Given the description of an element on the screen output the (x, y) to click on. 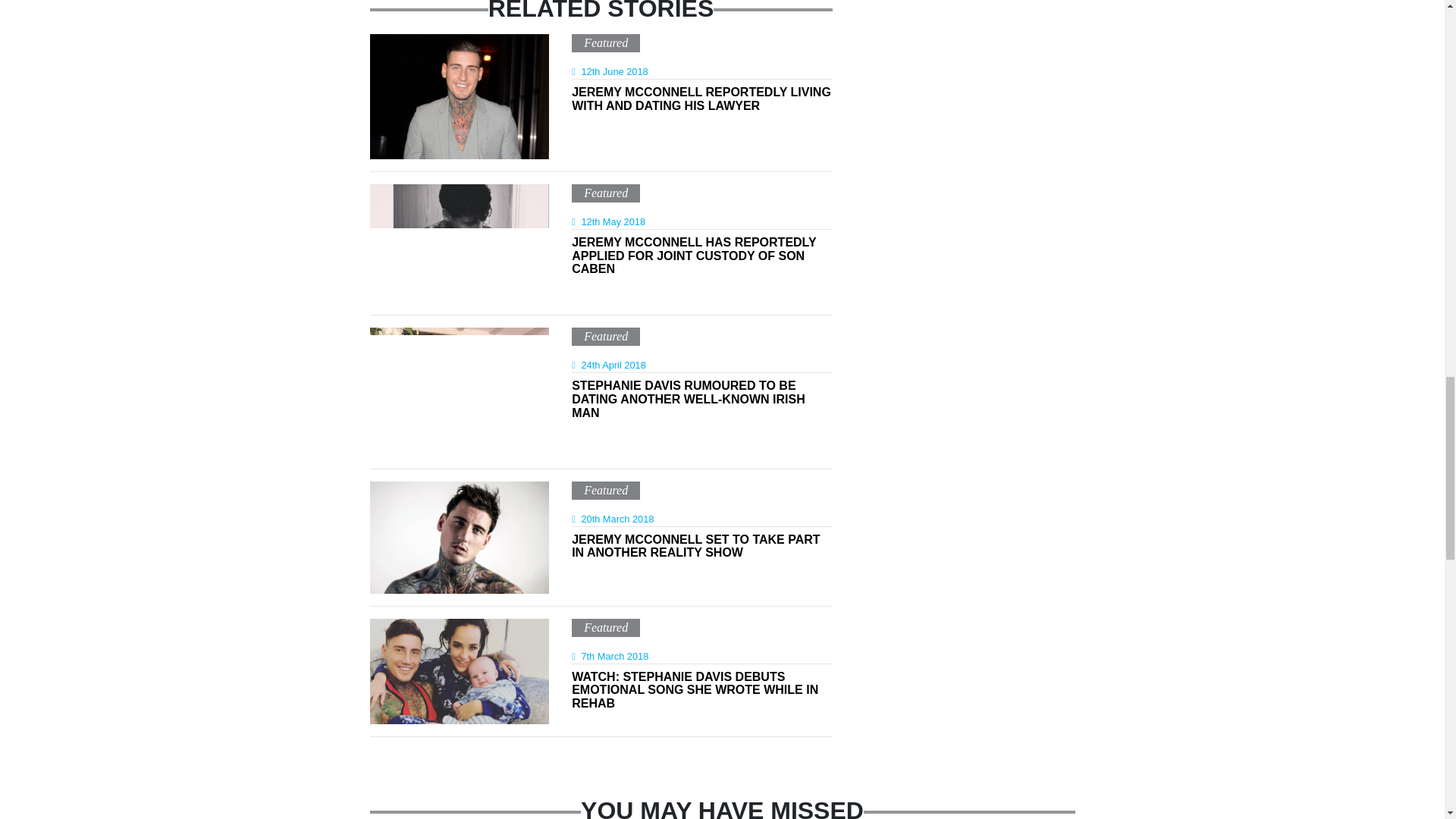
Featured (605, 42)
Featured (605, 626)
Featured (605, 336)
Featured (605, 192)
Featured (605, 490)
